Given the description of an element on the screen output the (x, y) to click on. 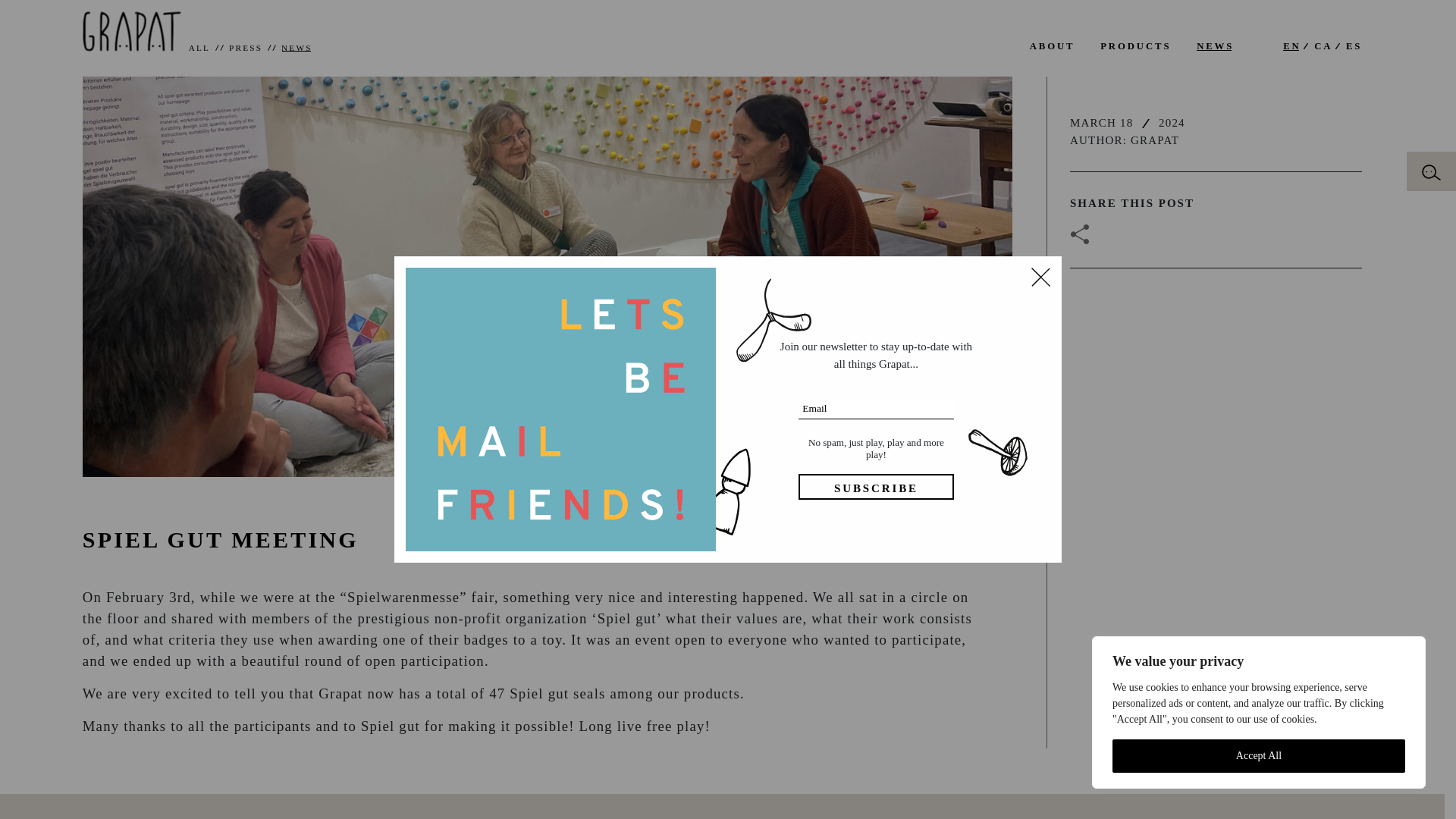
CA (1323, 46)
NEWS (289, 47)
PRESS (238, 47)
ALL (199, 47)
EN (1291, 46)
ES (1353, 46)
ABOUT (1052, 46)
Accept All (1258, 756)
PRODUCTS (1135, 46)
NEWS (1214, 46)
Subscribe (875, 486)
